Given the description of an element on the screen output the (x, y) to click on. 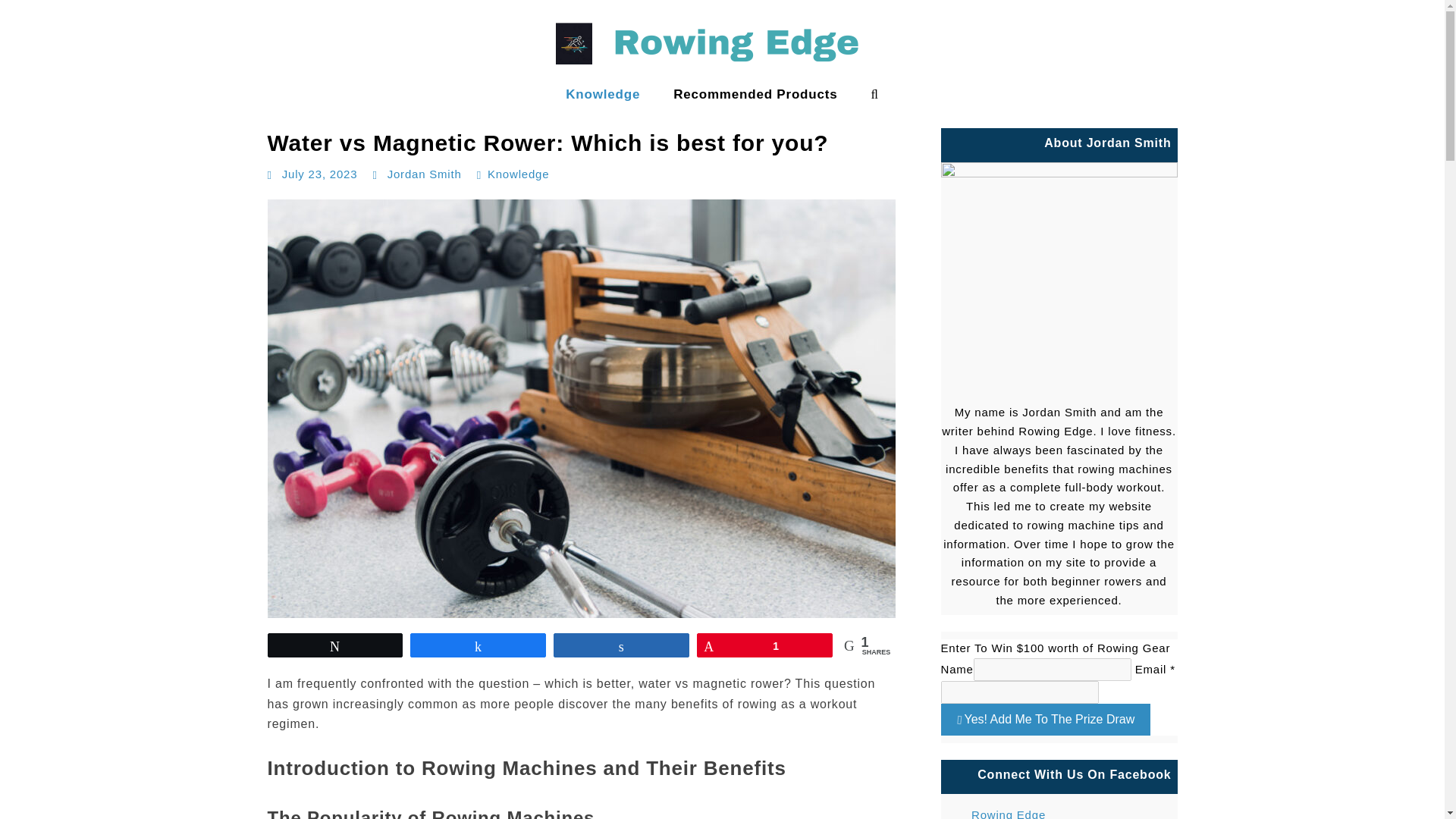
Recommended Products (754, 94)
Rowing Edge (50, 109)
Yes! Add Me To The Prize Draw (1045, 719)
1 (764, 644)
Jordan Smith (424, 173)
About Jordan Smith (1058, 280)
Knowledge (602, 94)
Rowing Edge (1059, 810)
Knowledge (517, 173)
